Given the description of an element on the screen output the (x, y) to click on. 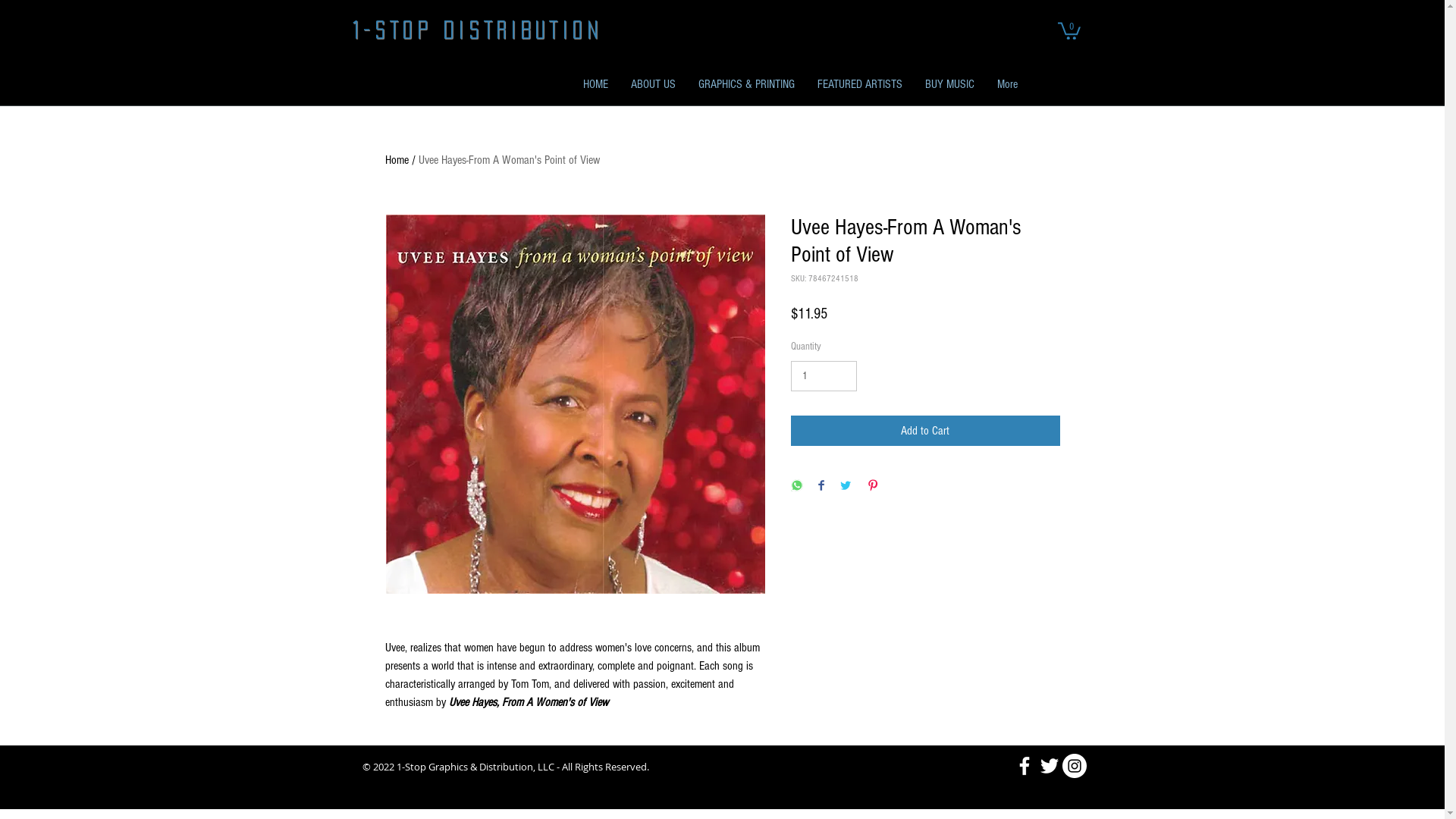
Uvee Hayes-From A Woman's Point of View Element type: text (508, 159)
GRAPHICS & PRINTING Element type: text (746, 84)
0 Element type: text (1068, 29)
HOME Element type: text (595, 84)
Add to Cart Element type: text (924, 430)
FEATURED ARTISTS Element type: text (859, 84)
BUY MUSIC Element type: text (949, 84)
ABOUT US Element type: text (652, 84)
1-STOP DISTRIBUTION Element type: text (476, 29)
Home Element type: text (396, 159)
